Given the description of an element on the screen output the (x, y) to click on. 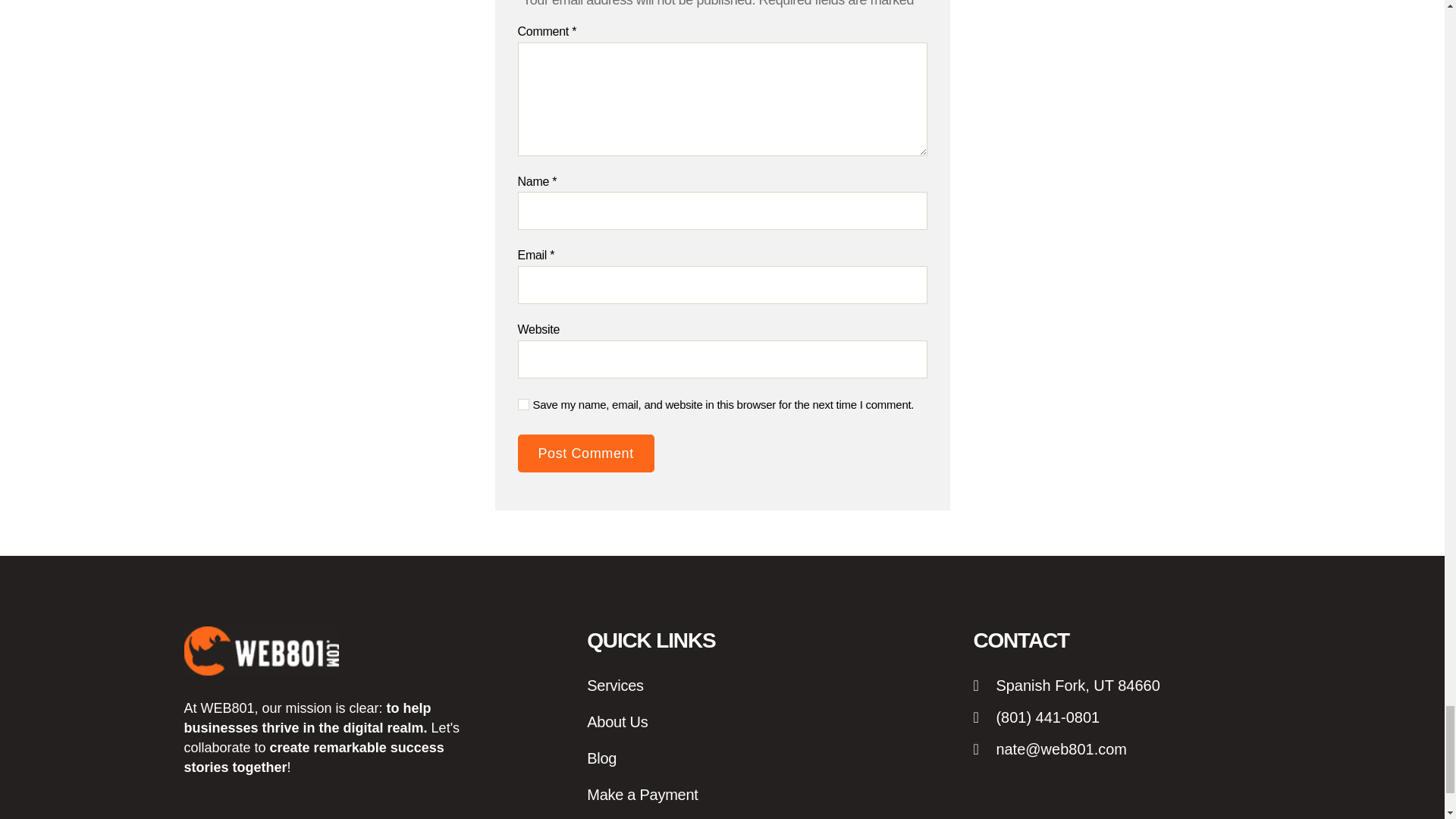
Post Comment (584, 453)
yes (522, 404)
